Given the description of an element on the screen output the (x, y) to click on. 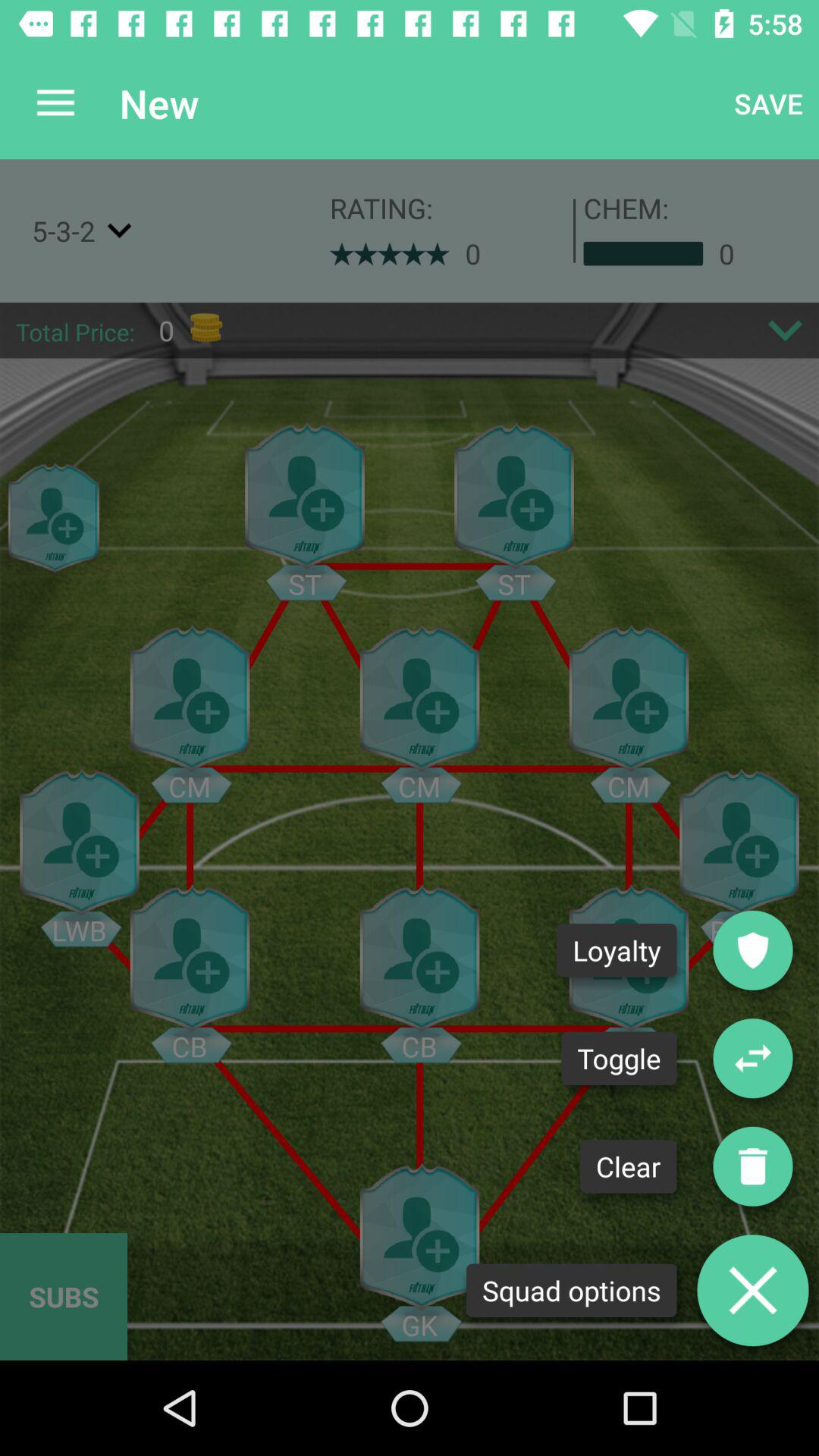
close out of options (753, 1290)
